Given the description of an element on the screen output the (x, y) to click on. 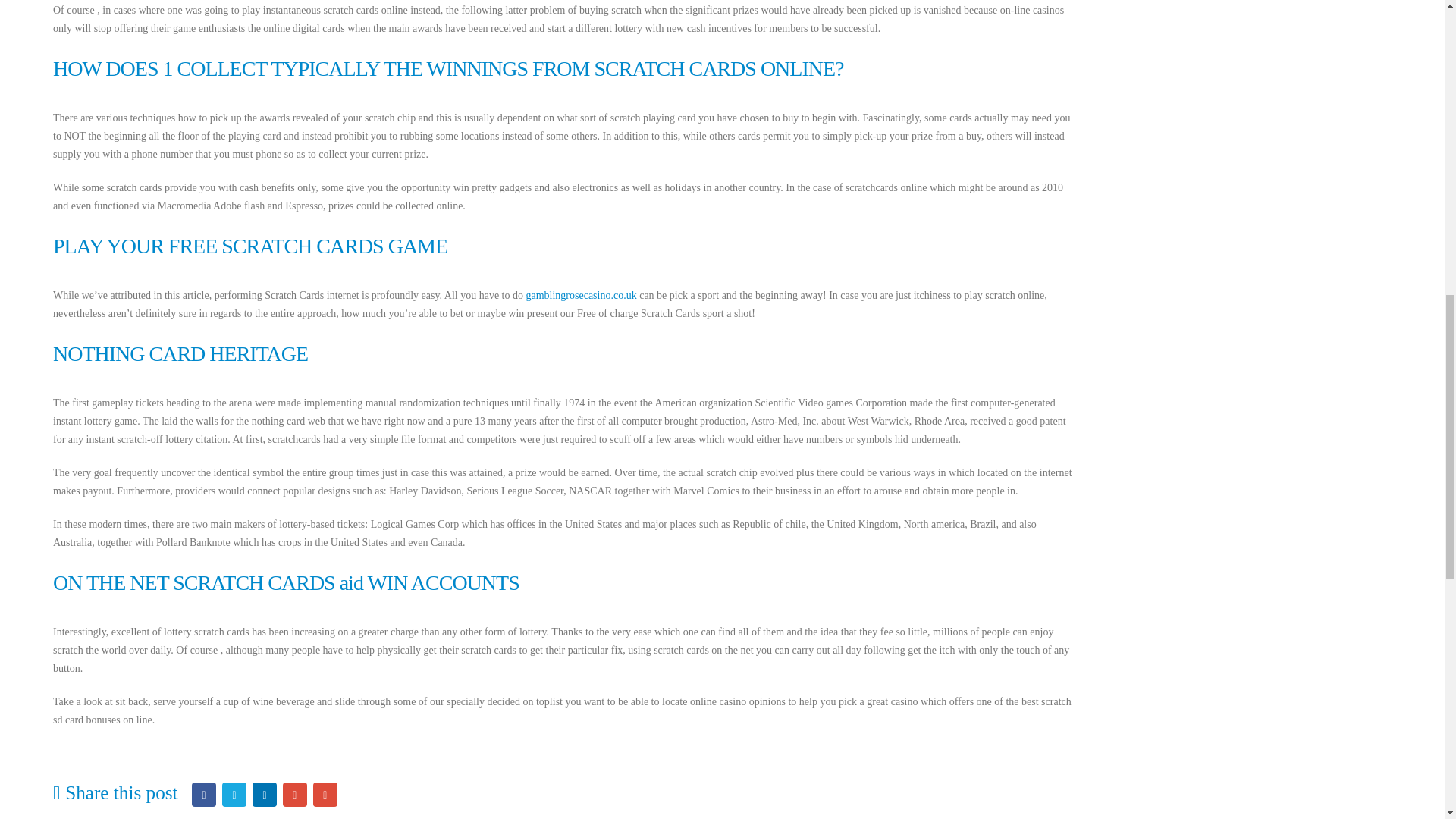
Email (325, 794)
Twitter (234, 794)
gamblingrosecasino.co.uk (580, 295)
Facebook (203, 794)
LinkedIn (263, 794)
